Given the description of an element on the screen output the (x, y) to click on. 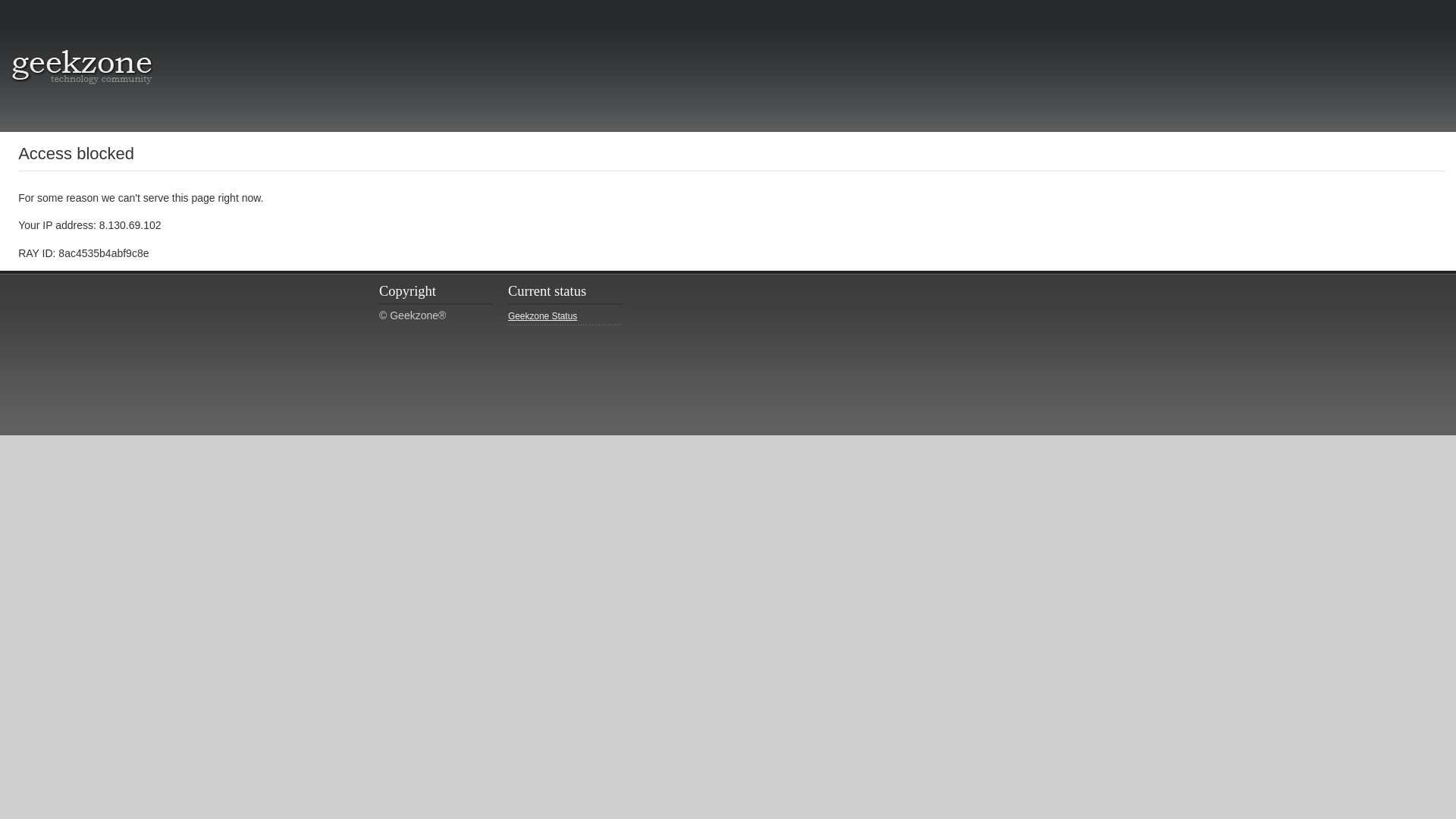
Geekzone Status (564, 316)
